Given the description of an element on the screen output the (x, y) to click on. 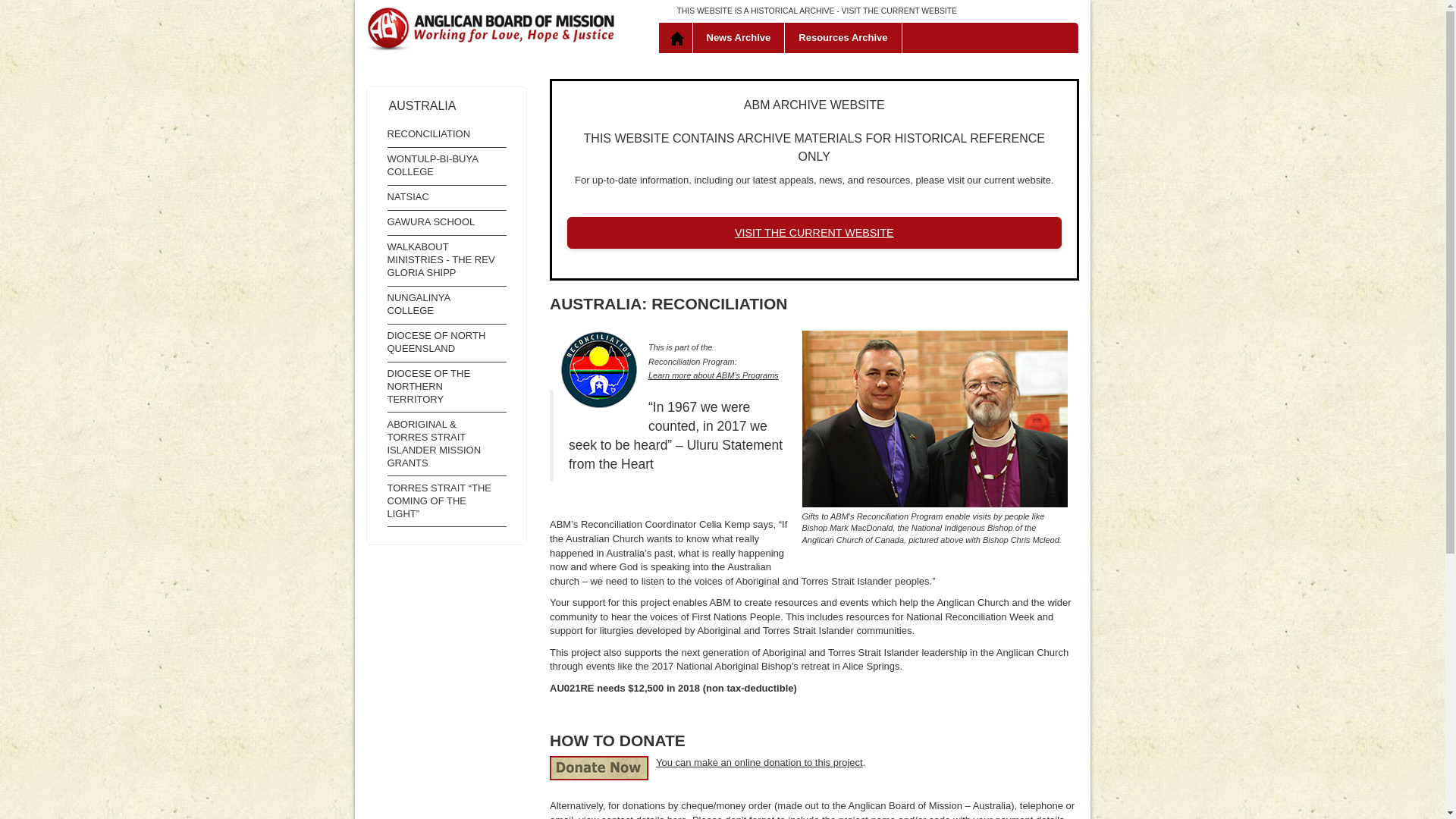
WALKABOUT MINISTRIES - THE REV GLORIA SHIPP (446, 260)
RECONCILIATION (446, 134)
Home (678, 37)
DIOCESE OF THE NORTHERN TERRITORY (446, 386)
DIOCESE OF NORTH QUEENSLAND (446, 342)
Reconciliation project (598, 368)
News Archive (739, 37)
You can make an online donation to this project (759, 762)
NATSIAC (446, 197)
Resources Archive (842, 37)
WONTULP-BI-BUYA COLLEGE (446, 165)
view contact details here (631, 816)
VISIT THE CURRENT WEBSITE (814, 232)
VISIT THE CURRENT WEBSITE (898, 10)
